Given the description of an element on the screen output the (x, y) to click on. 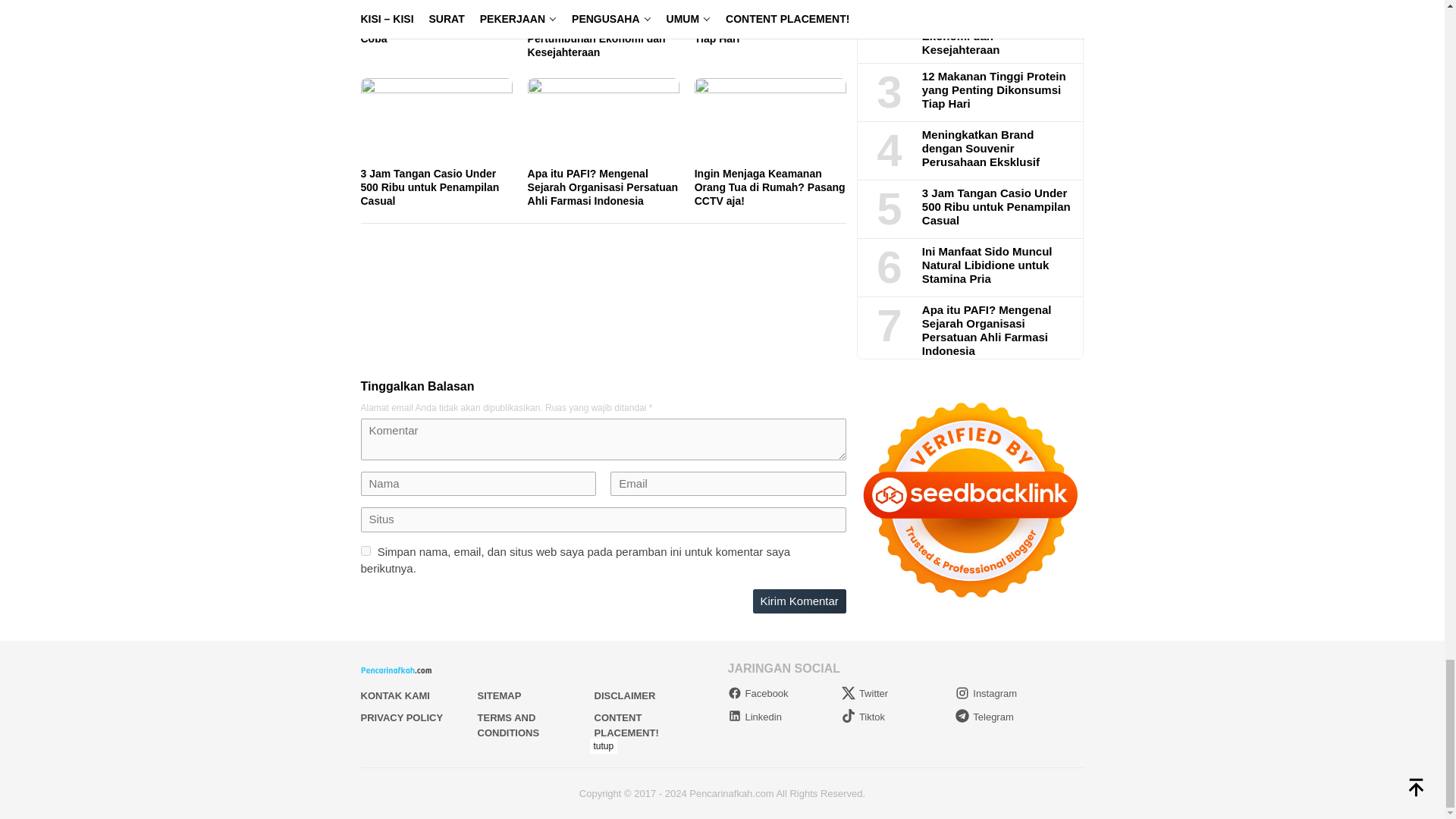
Kirim Komentar (798, 601)
yes (366, 551)
